Given the description of an element on the screen output the (x, y) to click on. 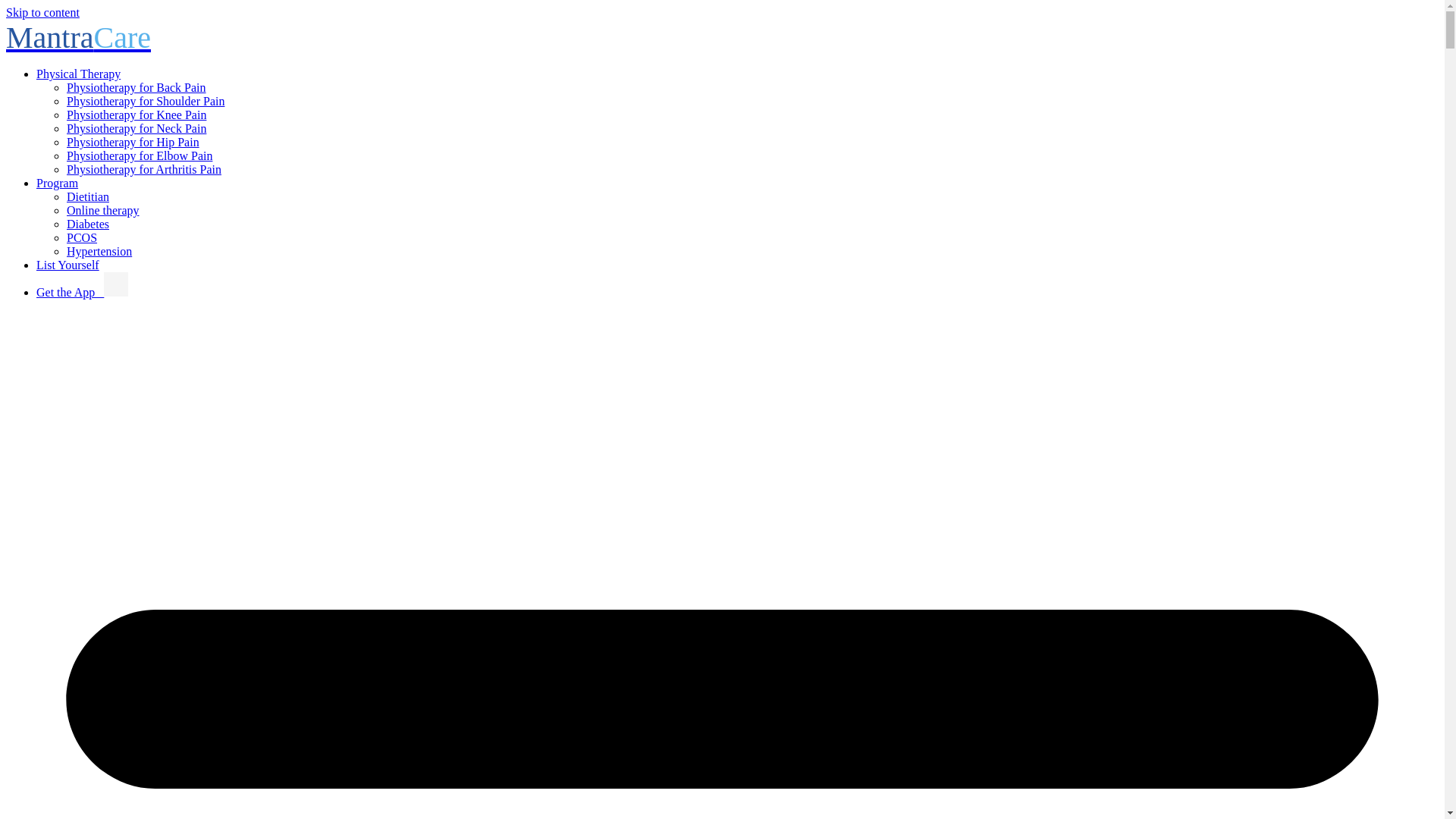
Online therapy (102, 210)
List Yourself (67, 264)
Dietitian (87, 196)
Diabetes (87, 223)
Physiotherapy for Knee Pain (136, 114)
PCOS (81, 237)
Physiotherapy for Shoulder Pain (145, 101)
Get the App   (69, 291)
Physiotherapy for Arthritis Pain (143, 169)
Physiotherapy for Back Pain (136, 87)
MantraCare (78, 37)
Program (57, 182)
Physical Therapy (78, 73)
Physiotherapy for Neck Pain (136, 128)
Hypertension (99, 250)
